Given the description of an element on the screen output the (x, y) to click on. 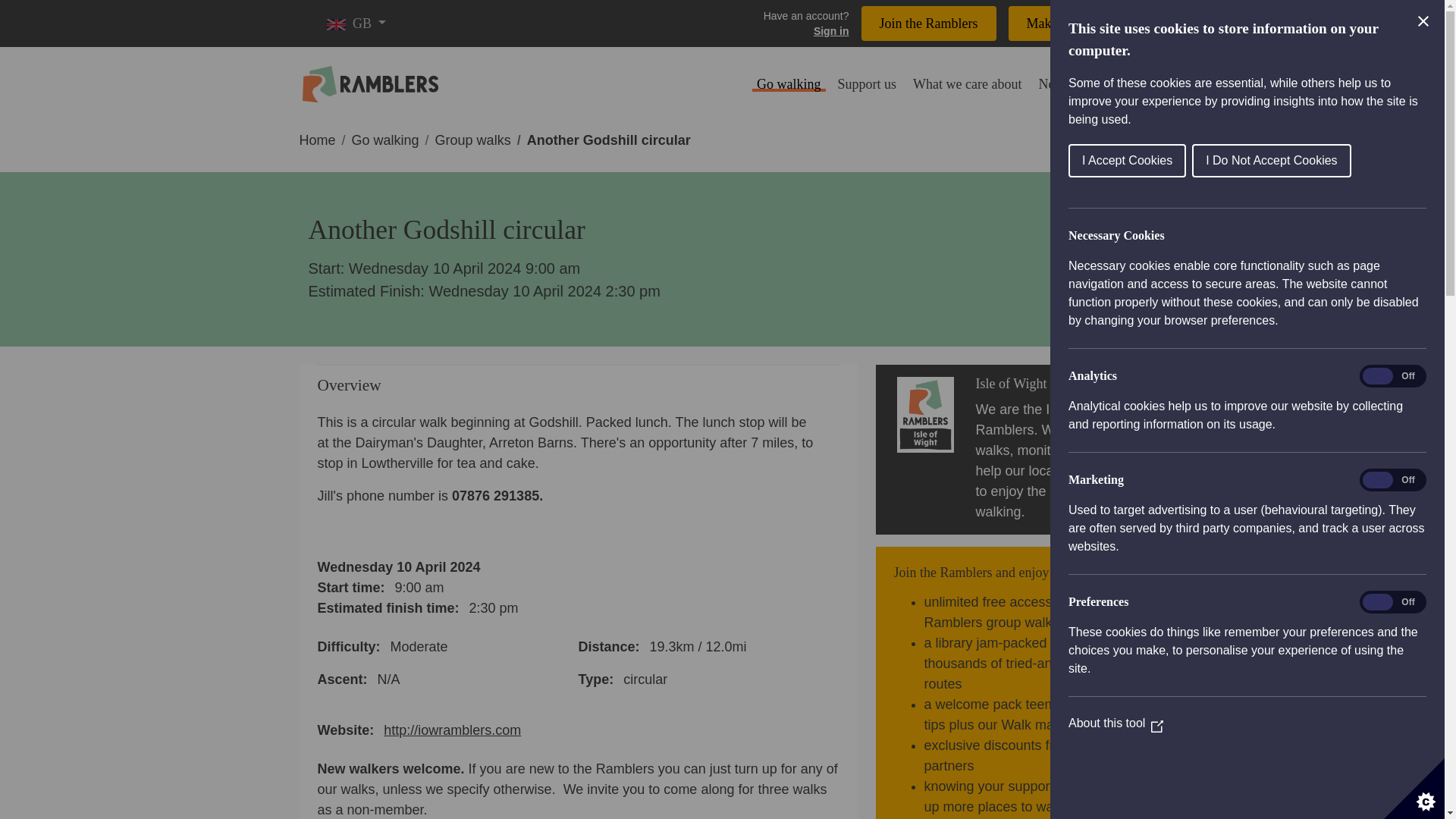
Sign in (805, 30)
Support us (866, 84)
Go walking (385, 140)
Group walks (473, 140)
Go walking (788, 84)
Make a donation (1073, 22)
What we care about (967, 84)
Join the Ramblers (928, 22)
GB (355, 23)
Isle of Wight Group (1029, 383)
